Given the description of an element on the screen output the (x, y) to click on. 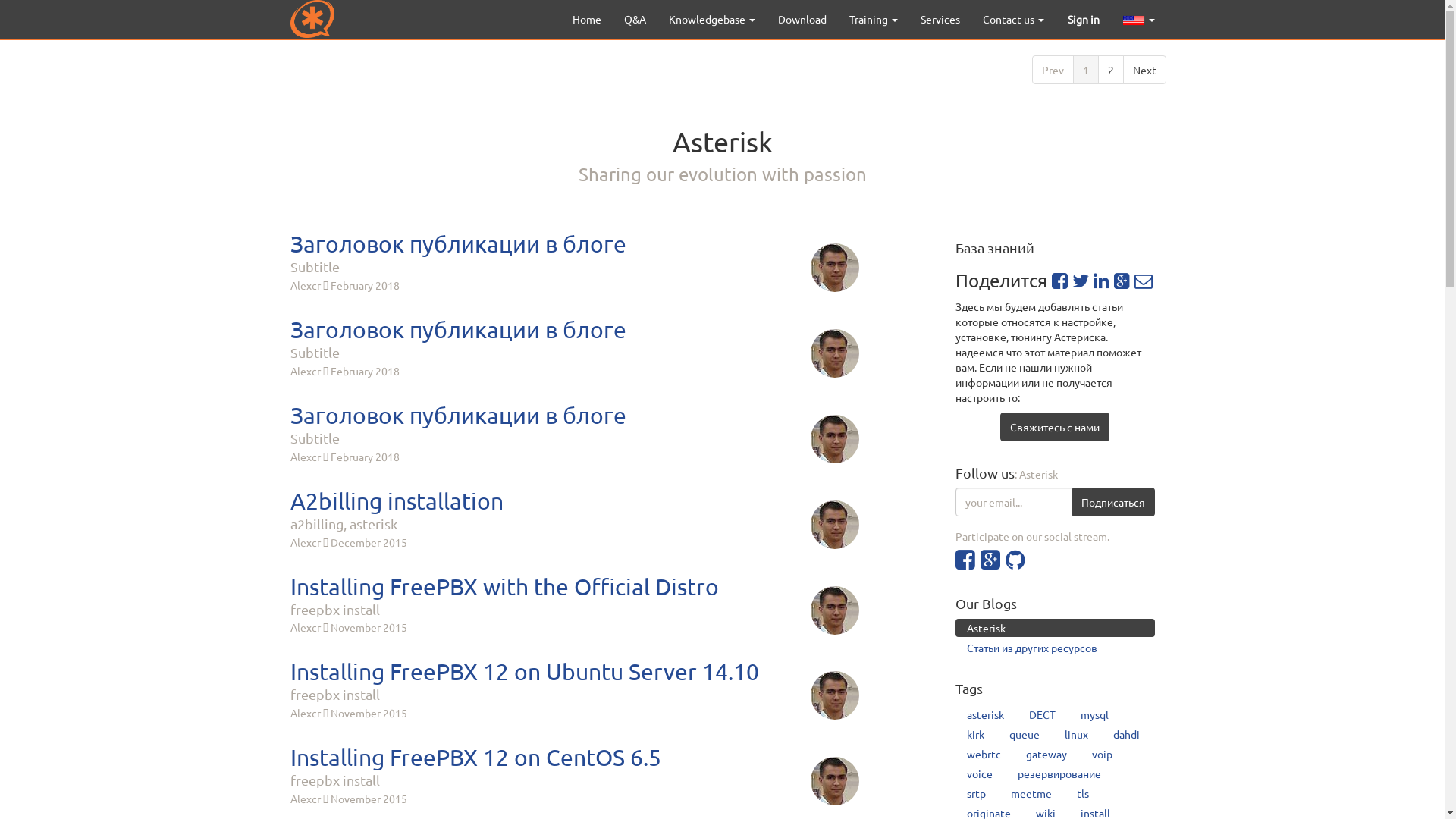
Home Element type: text (586, 18)
dahdi Element type: text (1126, 733)
voip Element type: text (1101, 753)
mysql Element type: text (1094, 714)
DECT Element type: text (1041, 714)
voice Element type: text (979, 773)
Installing FreePBX 12 on Ubuntu Server 14.10 Element type: text (573, 671)
meetme Element type: text (1031, 793)
kirk Element type: text (975, 733)
Installing FreePBX 12 on CentOS 6.5 Element type: text (573, 756)
Sign in Element type: text (1082, 18)
queue Element type: text (1024, 733)
1 Element type: text (1085, 69)
Knowledgebase Element type: text (710, 18)
Installing FreePBX with the Official Distro Element type: text (573, 586)
srtp Element type: text (976, 793)
A2billing installation Element type: text (573, 500)
Asterisk Element type: text (1054, 627)
gateway Element type: text (1046, 753)
linux Element type: text (1076, 733)
Q&A Element type: text (634, 18)
Asterisk Service Element type: hover (311, 18)
Contact us Element type: text (1012, 18)
asterisk Element type: text (985, 714)
Training Element type: text (872, 18)
2 Element type: text (1110, 69)
English Element type: hover (1133, 20)
Next Element type: text (1143, 69)
tls Element type: text (1082, 793)
Prev Element type: text (1052, 69)
Services Element type: text (939, 18)
webrtc Element type: text (983, 753)
Download Element type: text (801, 18)
